Given the description of an element on the screen output the (x, y) to click on. 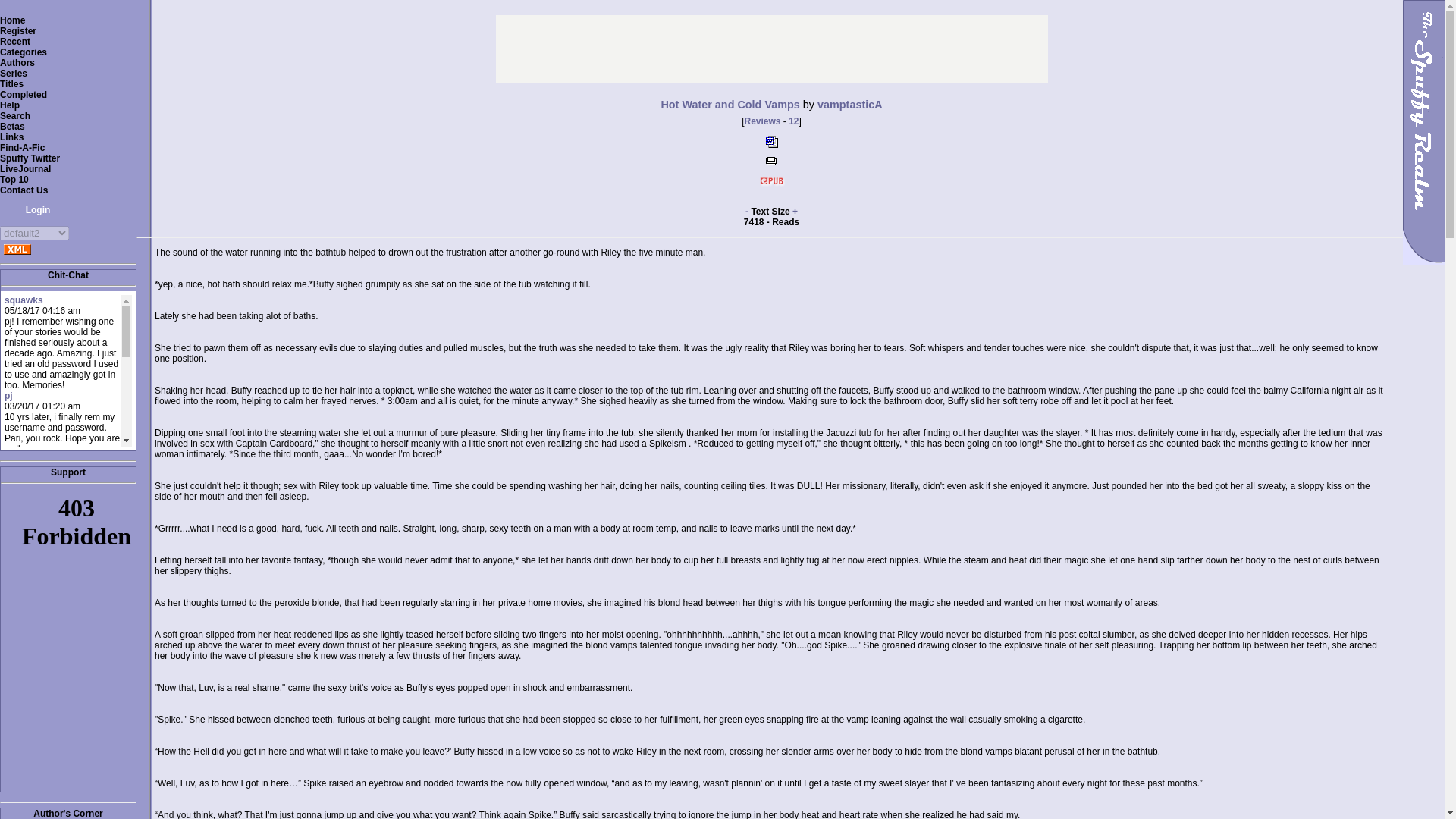
Search (15, 115)
vamptasticA (849, 104)
squawks (23, 299)
Login (30, 209)
Login (30, 209)
Categories (23, 51)
RSS (17, 249)
Register (18, 30)
Help (10, 104)
Authors (17, 62)
